Given the description of an element on the screen output the (x, y) to click on. 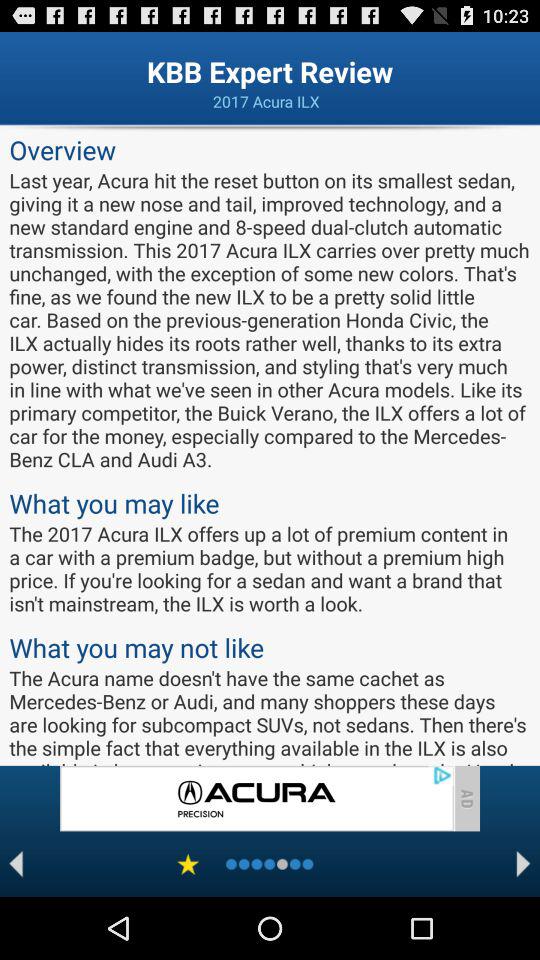
go to backword (16, 864)
